Given the description of an element on the screen output the (x, y) to click on. 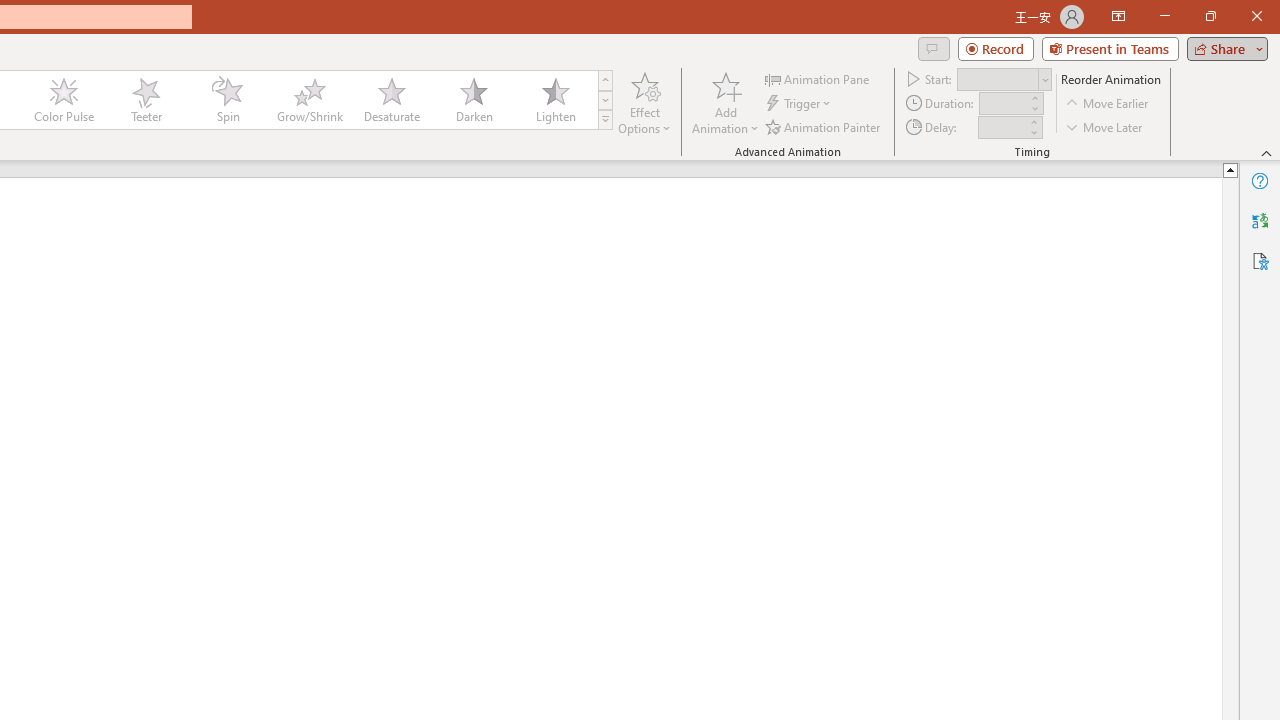
Spin (227, 100)
Color Pulse (63, 100)
Move Earlier (1107, 103)
Animation Styles (605, 120)
Grow/Shrink (309, 100)
Animation Painter (824, 126)
Desaturate (391, 100)
Animation Pane (818, 78)
